Given the description of an element on the screen output the (x, y) to click on. 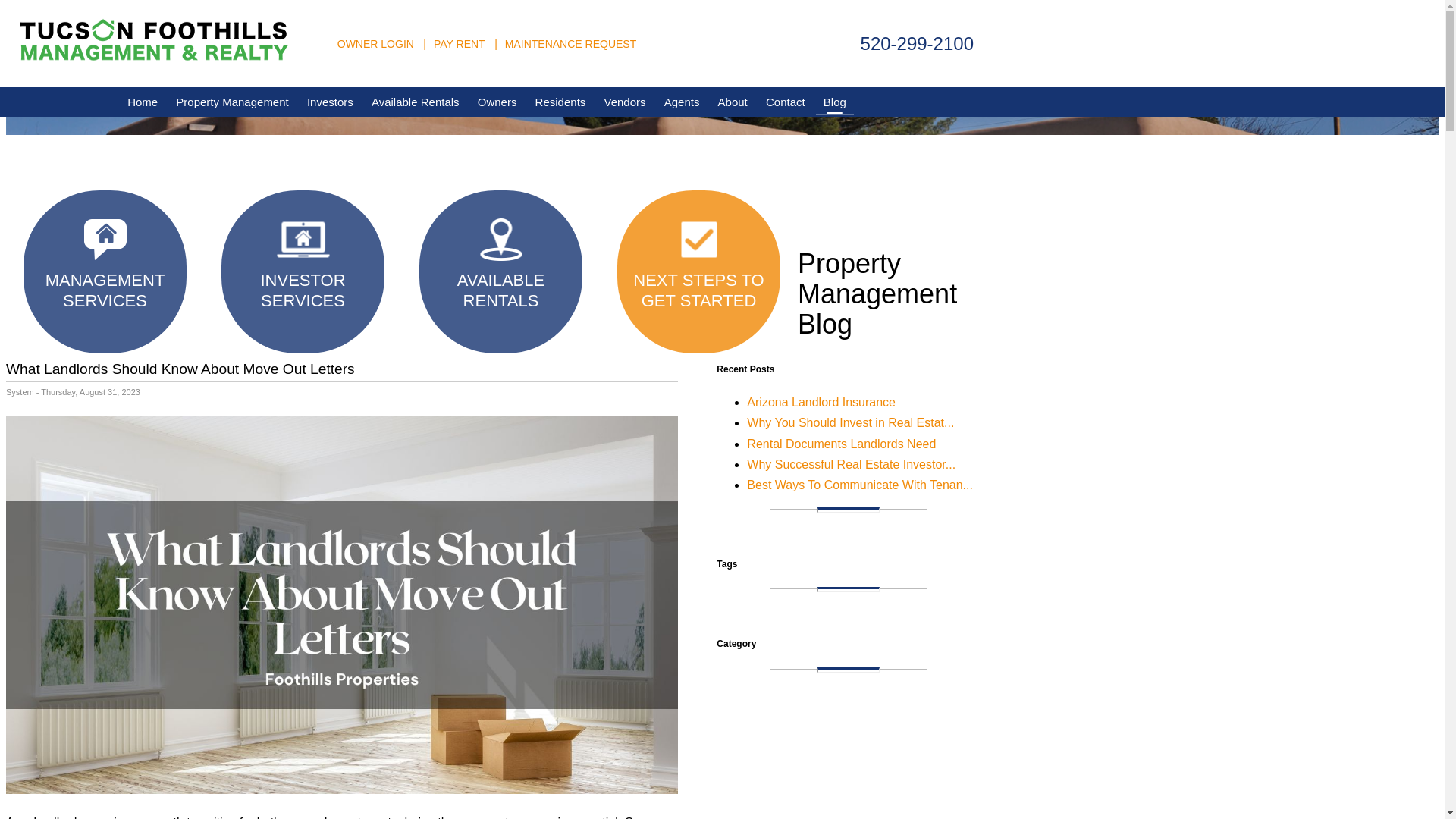
About (732, 101)
520-299-2100 (917, 43)
PAY RENT (458, 42)
Vendors (623, 101)
MAINTENANCE REQUEST (570, 42)
Contact (785, 101)
Home (142, 101)
Residents (560, 101)
Property Management (231, 101)
Agents (681, 101)
Owners (497, 101)
Blog (834, 101)
Investors (330, 101)
Available Rentals (415, 101)
OWNER LOGIN (375, 42)
